Given the description of an element on the screen output the (x, y) to click on. 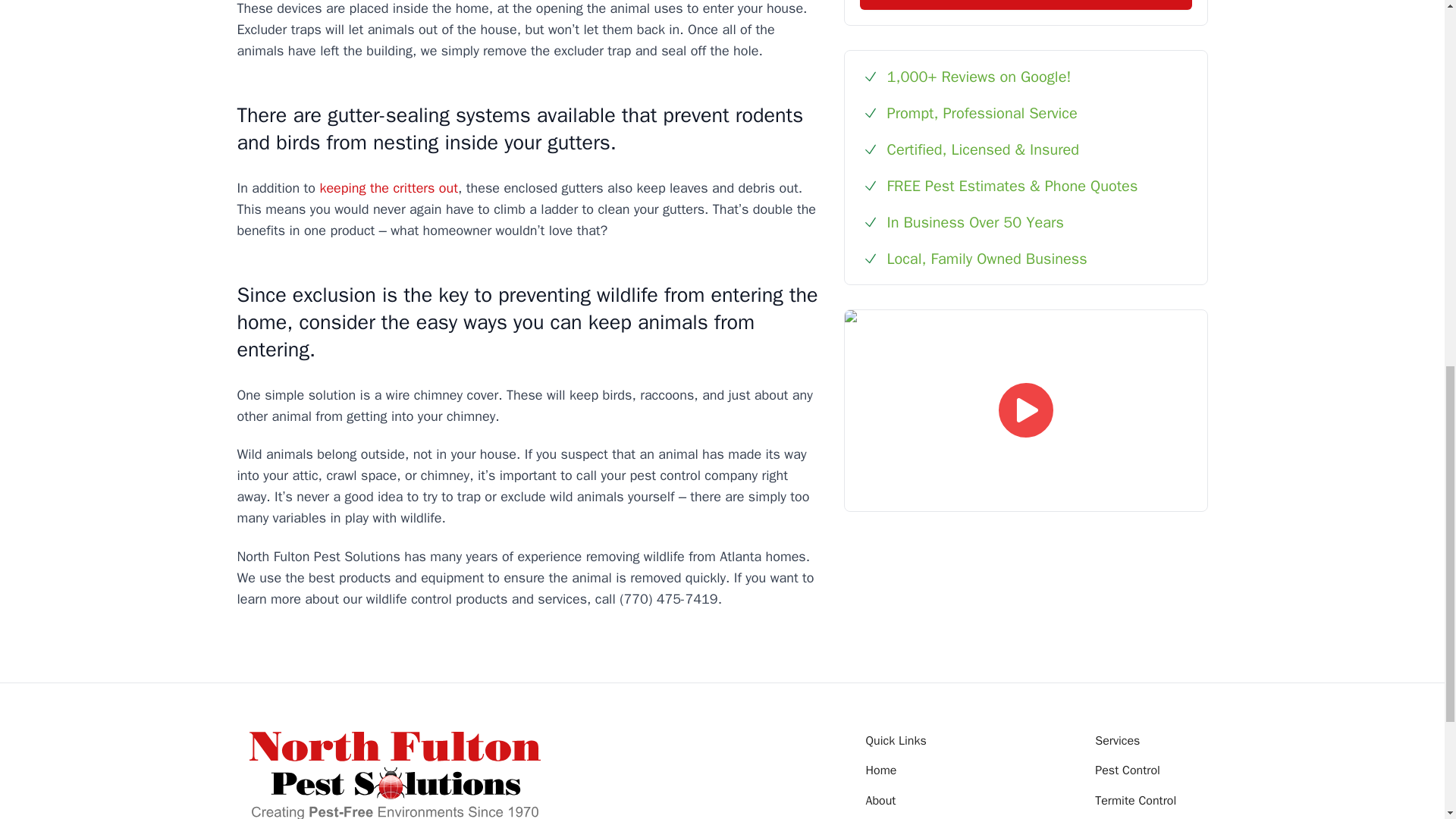
Termite Control (1135, 800)
About (881, 800)
keeping the critters out (388, 187)
Home (881, 770)
Pest Control (1127, 770)
